Given the description of an element on the screen output the (x, y) to click on. 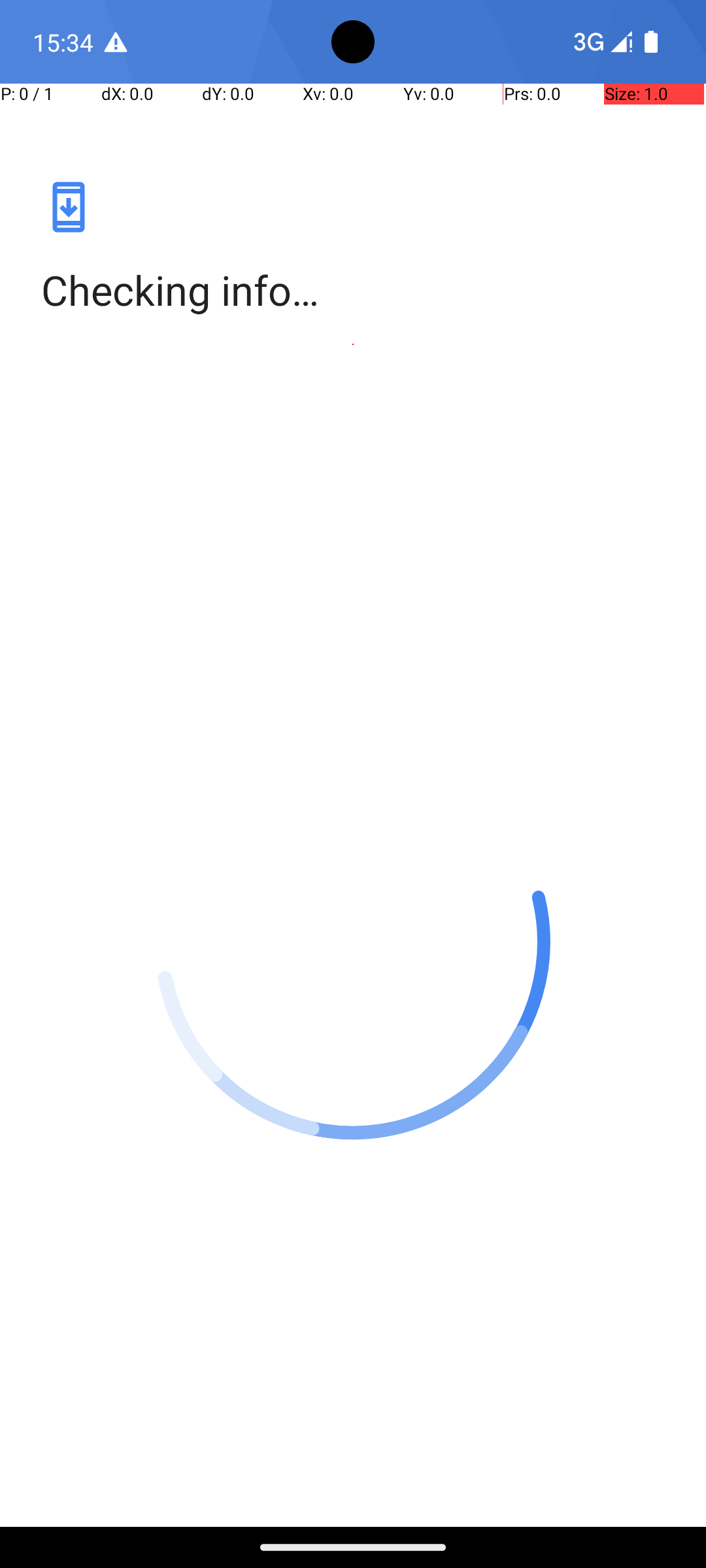
Checking info… Element type: android.widget.TextView (352, 289)
